Given the description of an element on the screen output the (x, y) to click on. 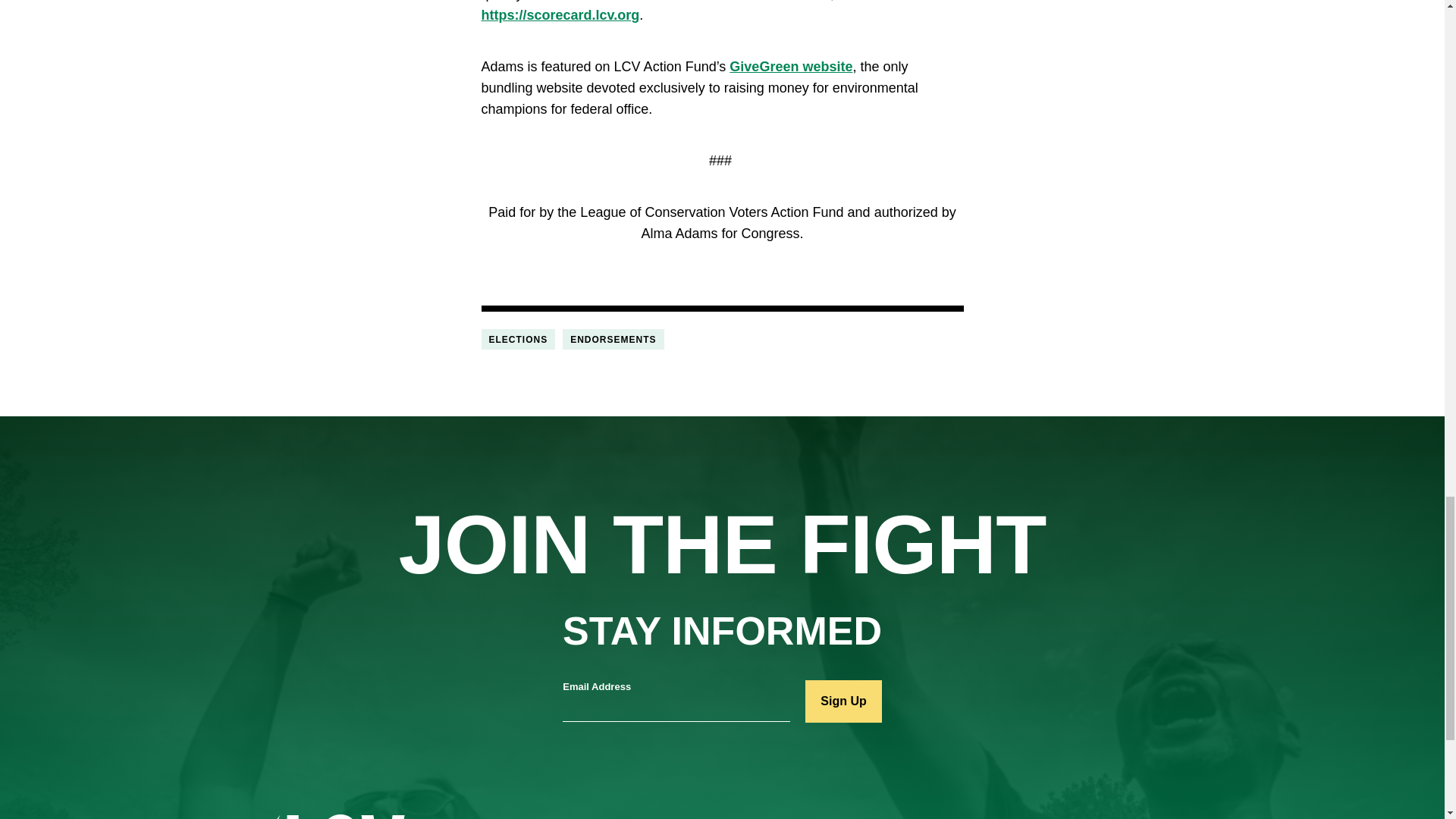
Advancing Policy (793, 816)
GiveGreen website (790, 66)
Sign Up (842, 701)
ELECTIONS (517, 339)
Sign Up (842, 701)
ENDORSEMENTS (612, 339)
